Given the description of an element on the screen output the (x, y) to click on. 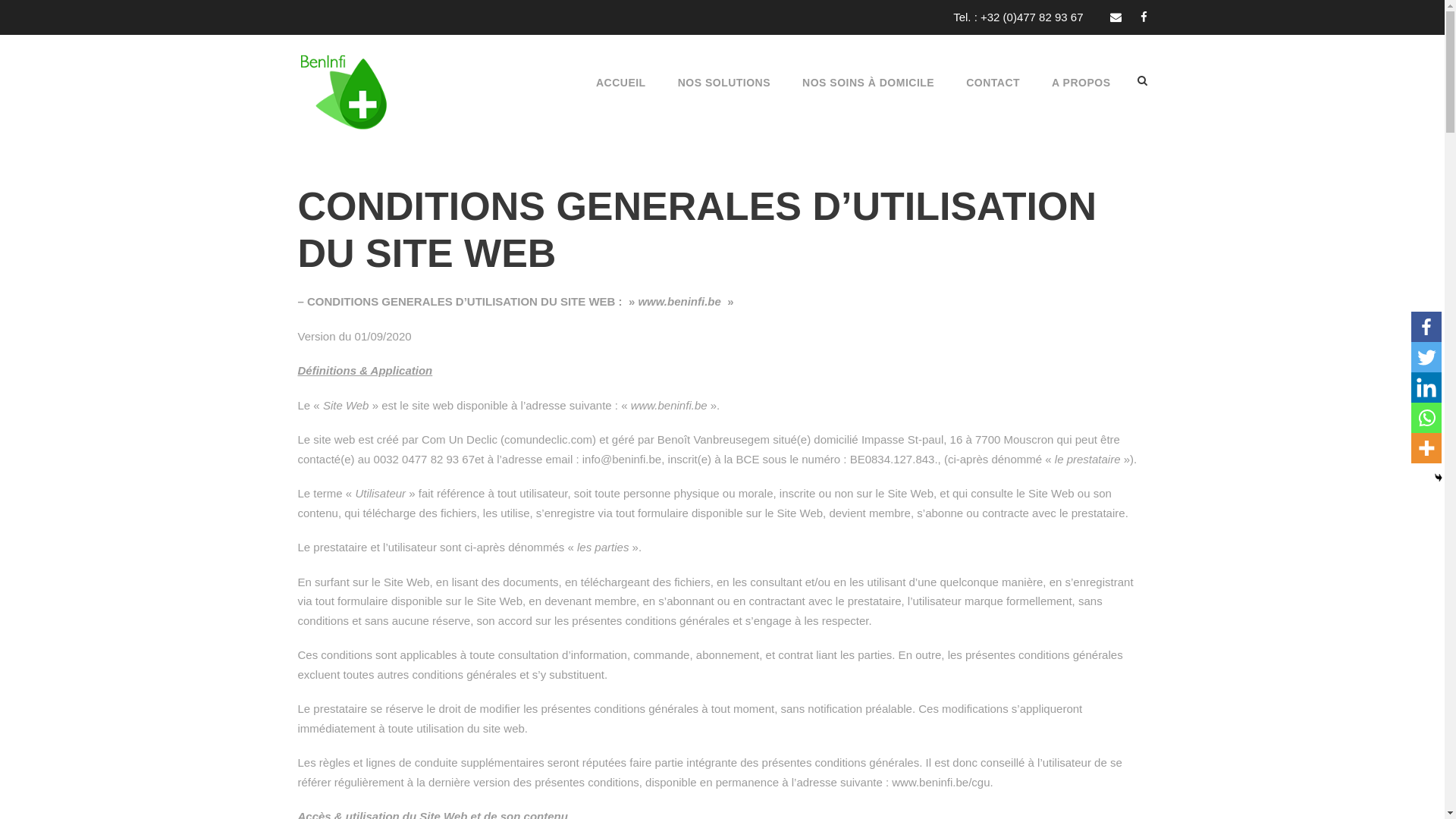
Twitter Element type: hover (1426, 357)
Whatsapp Element type: hover (1426, 417)
More Element type: hover (1426, 448)
NOS SOLUTIONS Element type: text (723, 100)
Hide Element type: hover (1438, 477)
ACCUEIL Element type: text (621, 100)
facebook Element type: hover (1143, 16)
email Element type: hover (1115, 16)
CGU Element type: text (975, 654)
COM UN DECLIC Element type: text (940, 780)
facebook Element type: hover (749, 635)
CONTACT Element type: text (992, 100)
BENINFI_LOGO_150-texte-2 Element type: hover (342, 87)
Linkedin Element type: hover (1426, 387)
Facebook Element type: hover (1426, 326)
A PROPOS Element type: text (1080, 100)
